Given the description of an element on the screen output the (x, y) to click on. 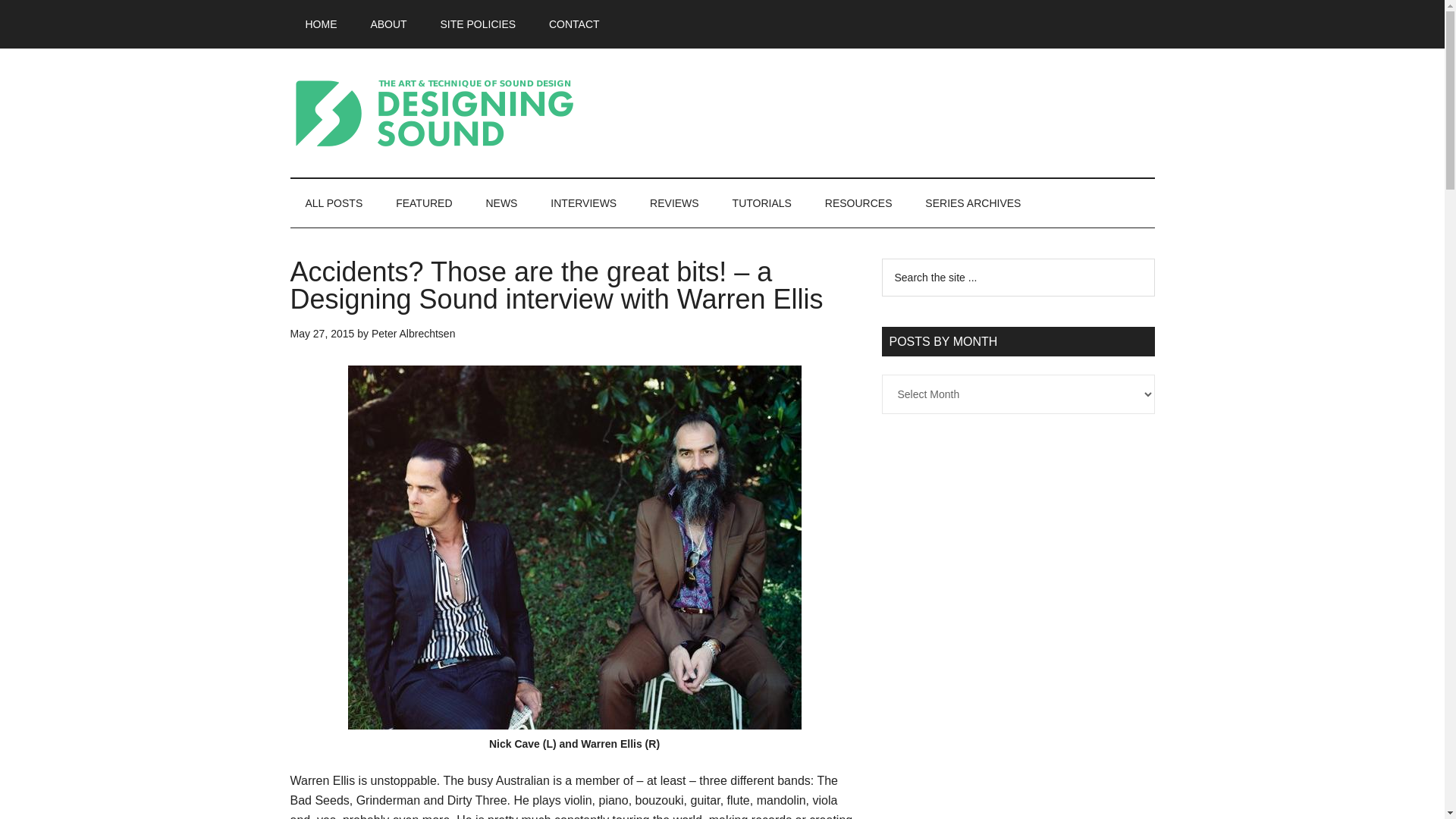
TUTORIALS (761, 203)
ALL POSTS (333, 203)
INTERVIEWS (583, 203)
HOME (320, 24)
ABOUT (388, 24)
NEWS (501, 203)
Designing Sound (433, 112)
CONTACT (574, 24)
SERIES ARCHIVES (972, 203)
REVIEWS (674, 203)
FEATURED (423, 203)
SITE POLICIES (478, 24)
